Given the description of an element on the screen output the (x, y) to click on. 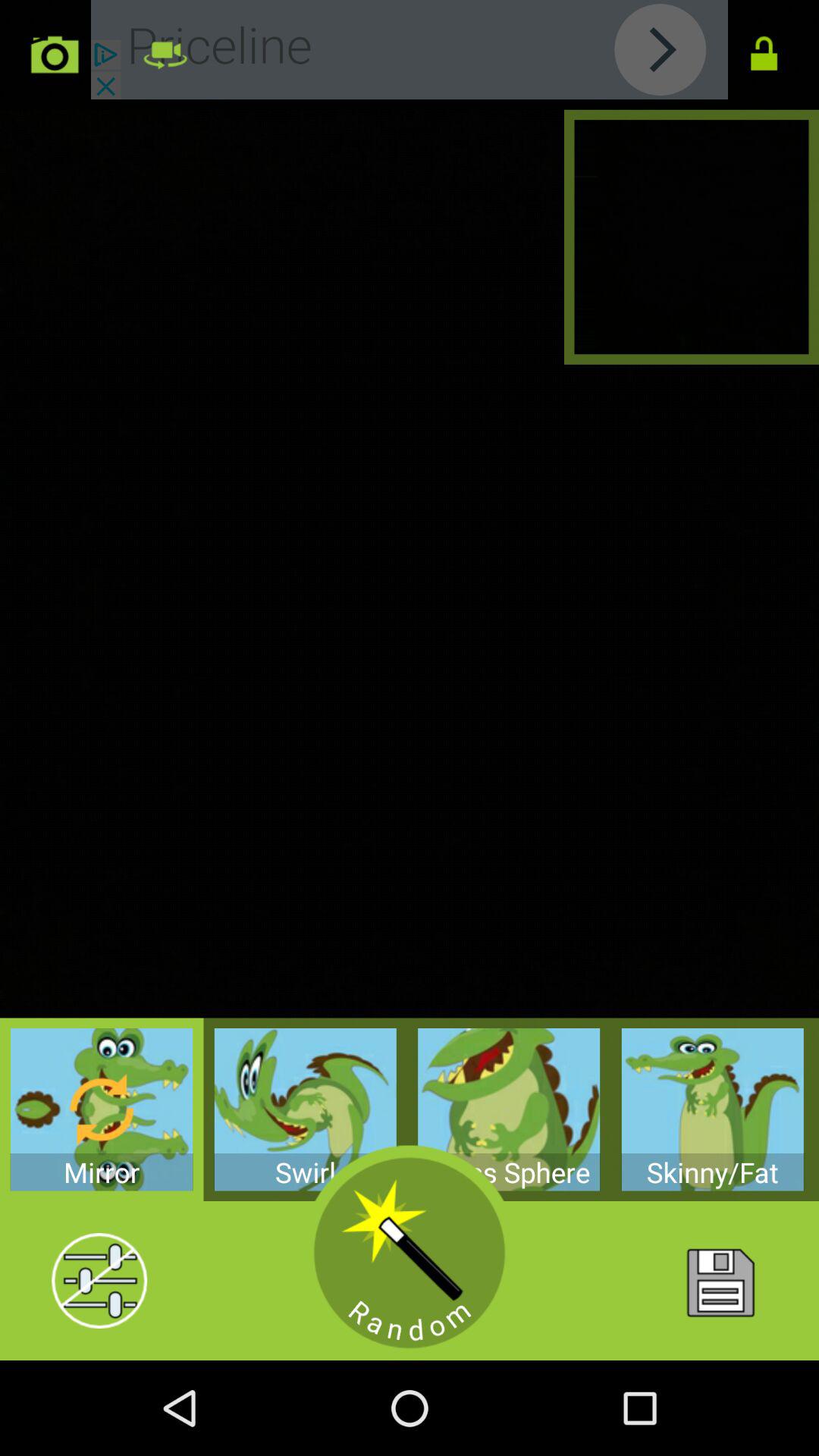
random effect (409, 1252)
